Given the description of an element on the screen output the (x, y) to click on. 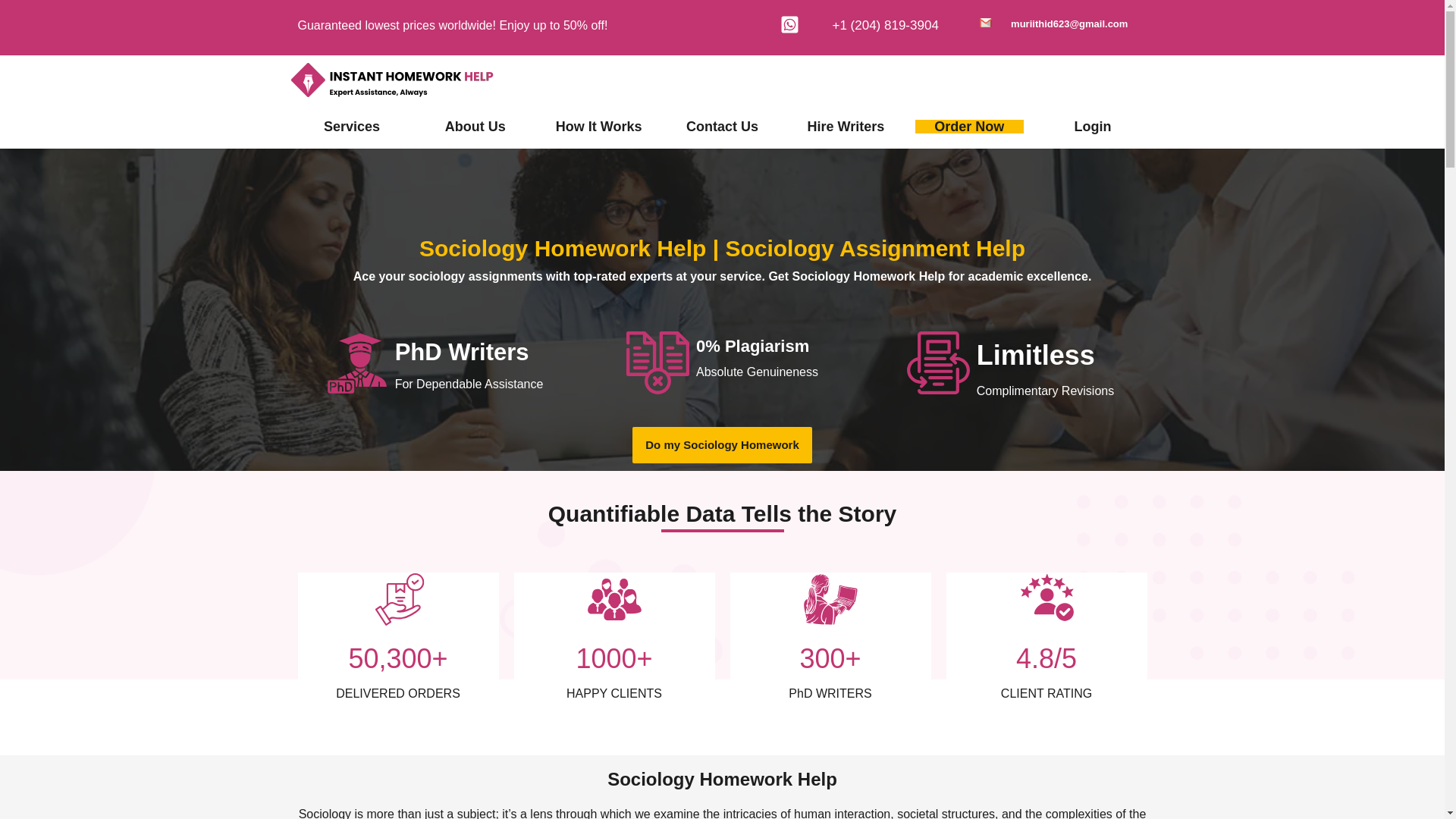
Services (351, 126)
Contact Us (721, 126)
About Us (475, 126)
Do my Sociology Homework (721, 444)
Login (1093, 126)
How It Works (599, 126)
Order Now (969, 126)
Hire Writers (844, 126)
